Given the description of an element on the screen output the (x, y) to click on. 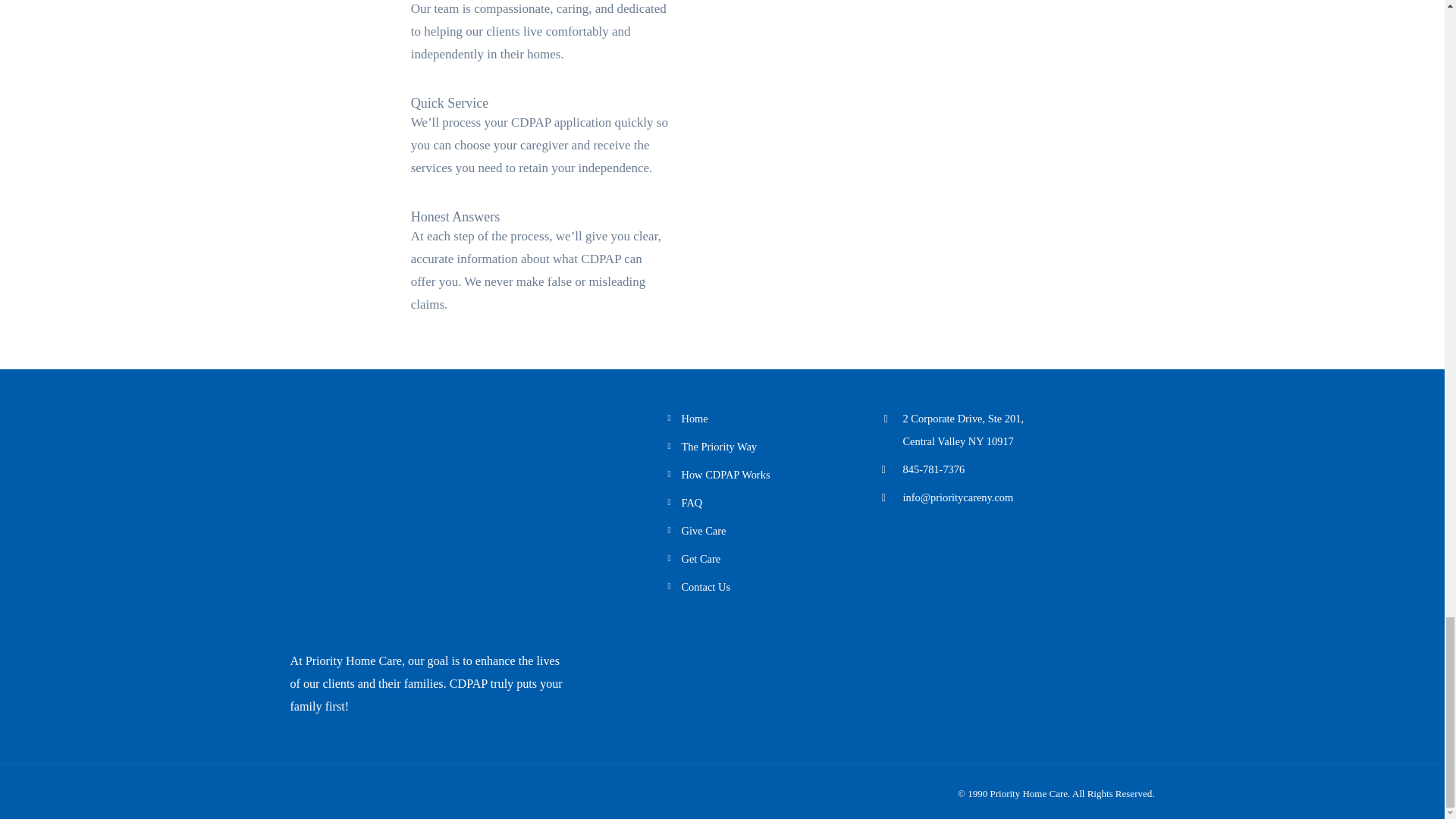
845-781-7376 (932, 469)
The Priority Way (719, 446)
Get Care (962, 429)
How CDPAP Works (700, 558)
Give Care (725, 474)
Home (703, 530)
FAQ (694, 418)
Contact Us (691, 502)
